Given the description of an element on the screen output the (x, y) to click on. 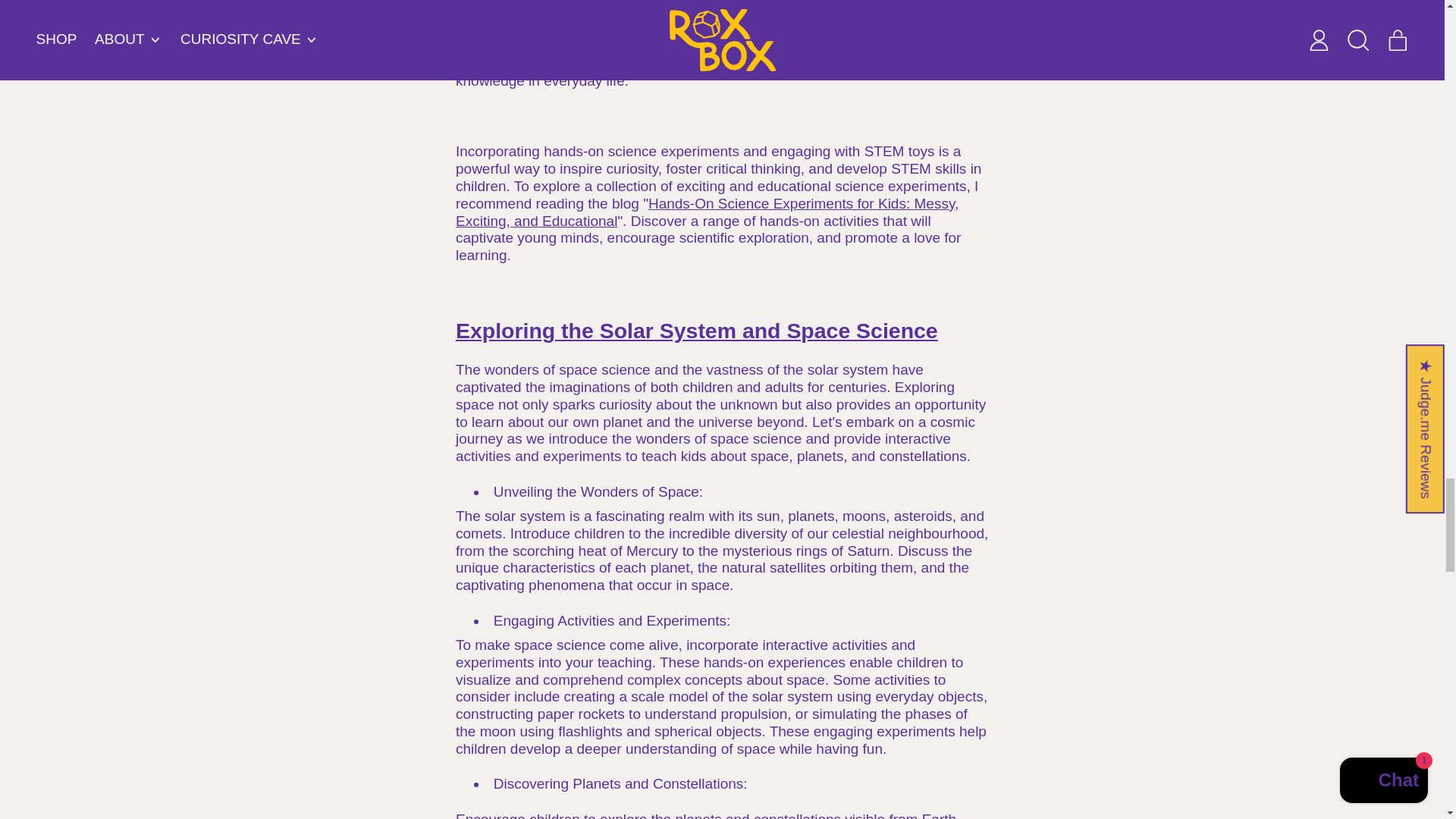
space education and space science activities for kids (696, 330)
Exploring the Solar System and Space Science (696, 330)
science experiments for kids (706, 212)
